Given the description of an element on the screen output the (x, y) to click on. 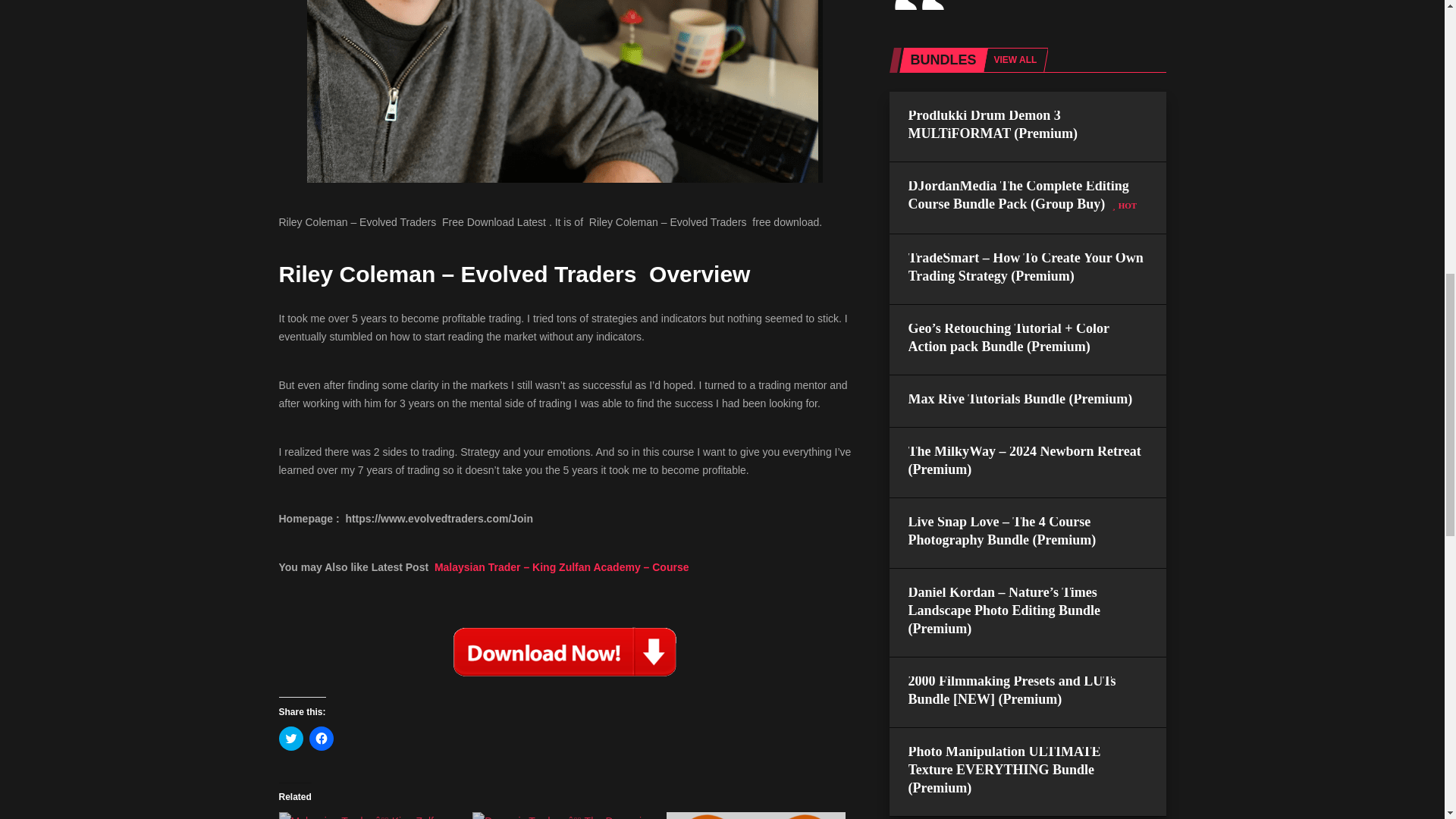
Click to share on Twitter (290, 738)
Click to share on Facebook (320, 738)
Search (1016, 396)
